Given the description of an element on the screen output the (x, y) to click on. 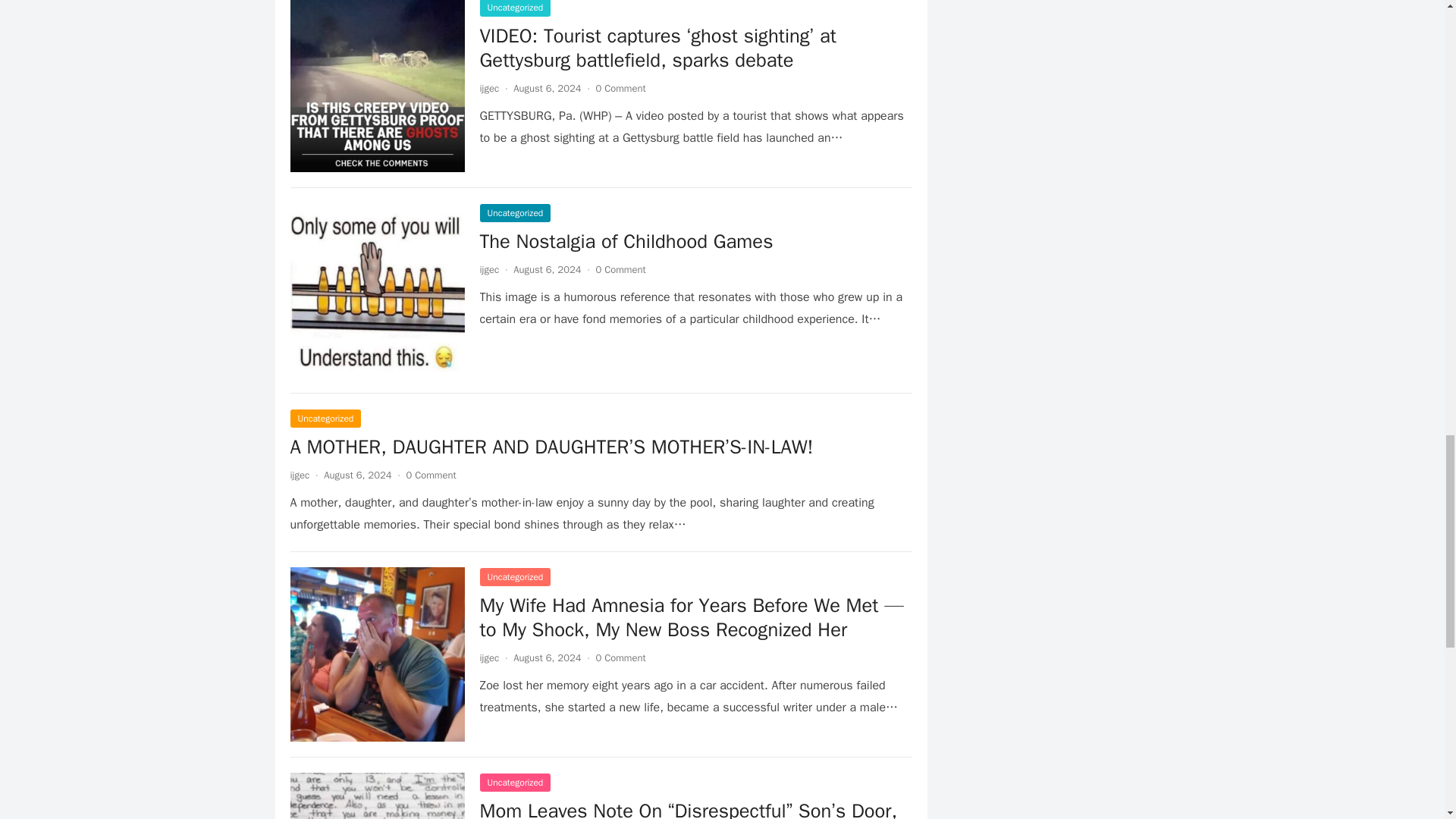
Posts by ijgec (489, 657)
Uncategorized (514, 782)
The Nostalgia of Childhood Games (626, 241)
ijgec (489, 269)
ijgec (489, 657)
Posts by ijgec (298, 474)
0 Comment (620, 88)
ijgec (489, 88)
Posts by ijgec (489, 269)
0 Comment (620, 657)
0 Comment (620, 269)
Uncategorized (514, 212)
0 Comment (430, 474)
Posts by ijgec (489, 88)
Uncategorized (514, 8)
